Given the description of an element on the screen output the (x, y) to click on. 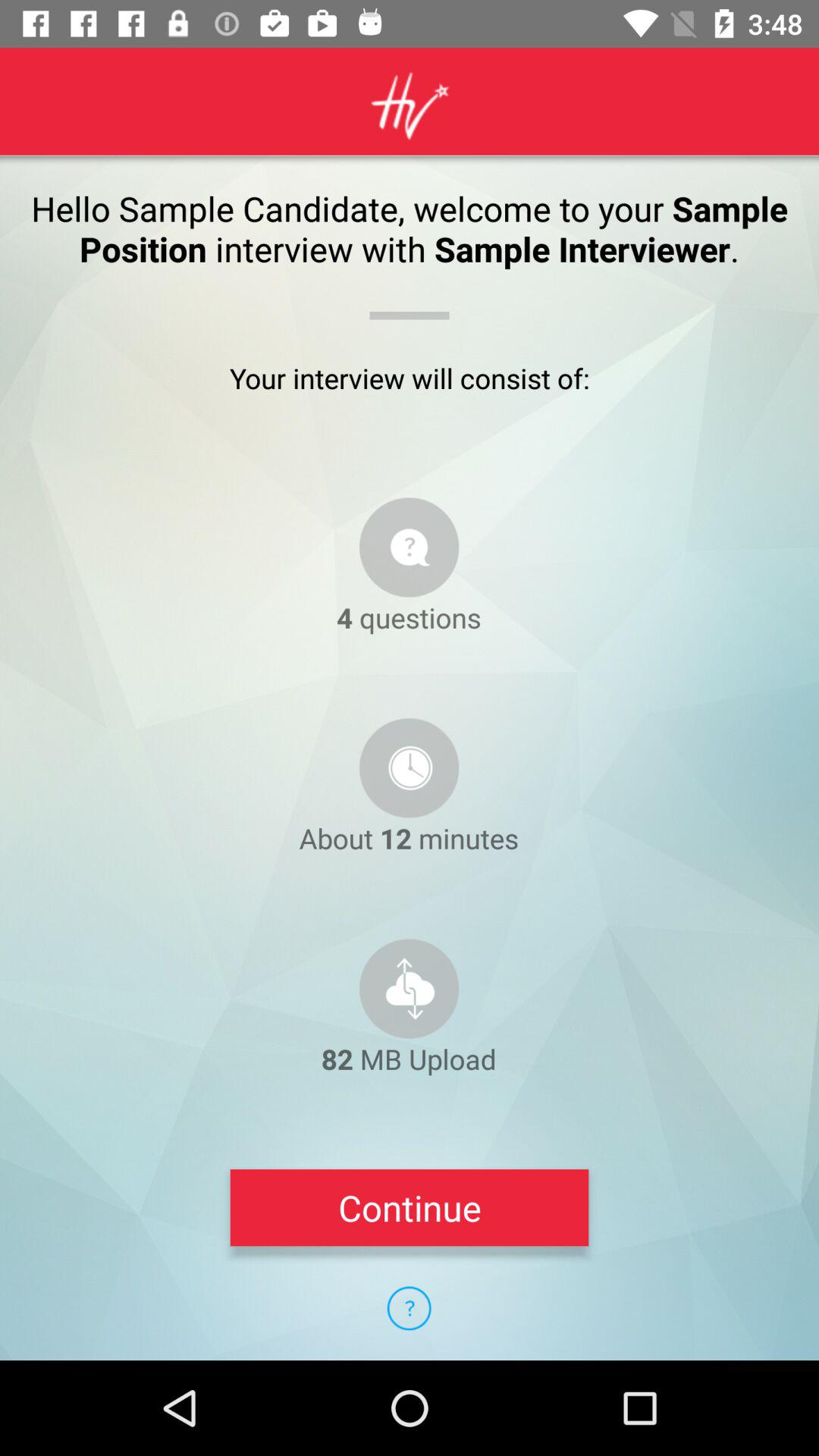
scroll to continue (409, 1207)
